Given the description of an element on the screen output the (x, y) to click on. 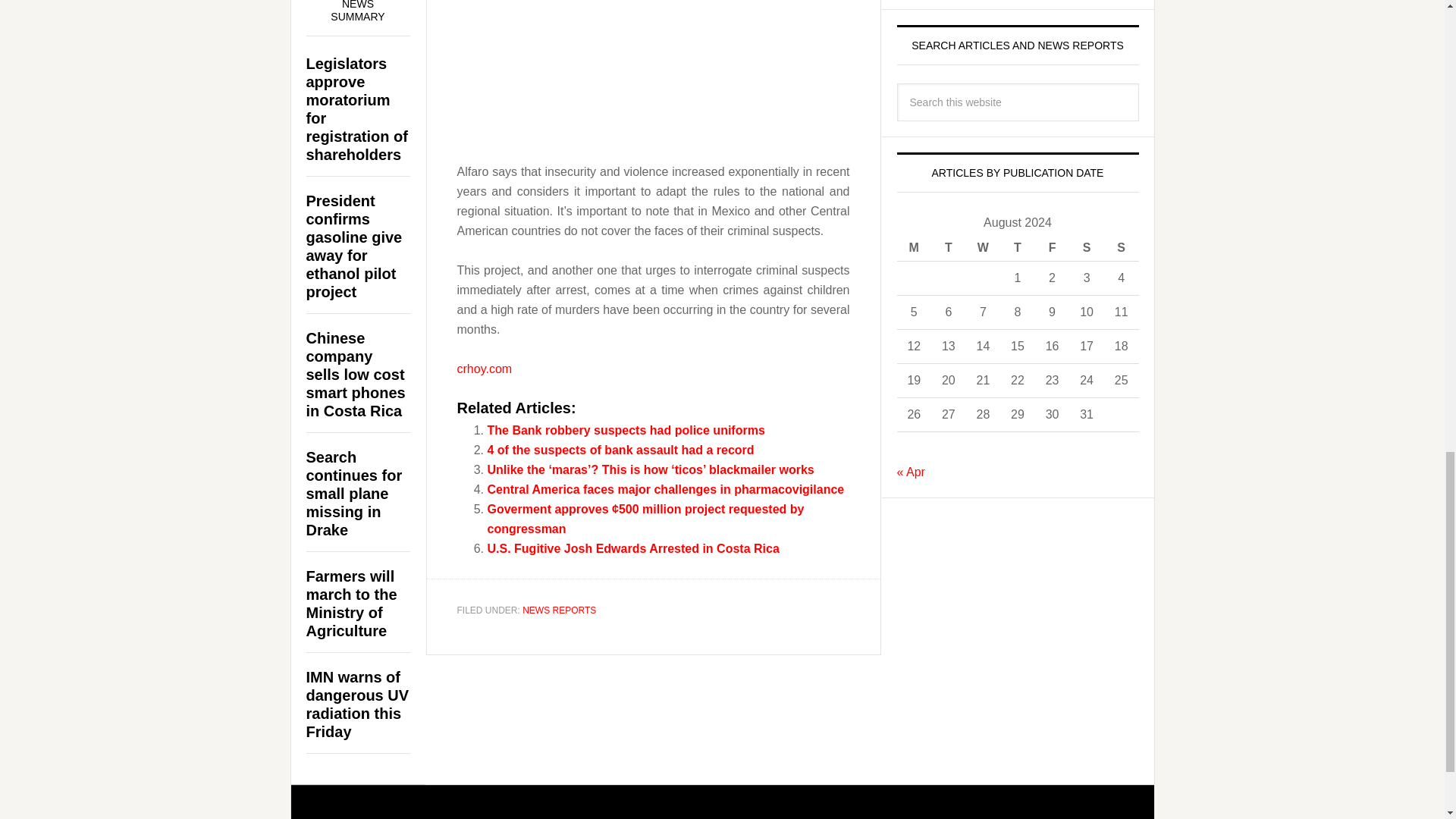
4 of the suspects of bank assault had a record (620, 449)
The Bank robbery suspects had police uniforms (625, 430)
NEWS REPORTS (558, 609)
The Bank robbery suspects had police uniforms (625, 430)
4 of the suspects of bank assault had a record (620, 449)
U.S. Fugitive Josh Edwards Arrested in Costa Rica (632, 548)
crhoy.com (484, 367)
Central America faces major challenges in pharmacovigilance (665, 489)
Tuesday (948, 248)
Chinese company sells low cost smart phones in Costa Rica (355, 374)
